Given the description of an element on the screen output the (x, y) to click on. 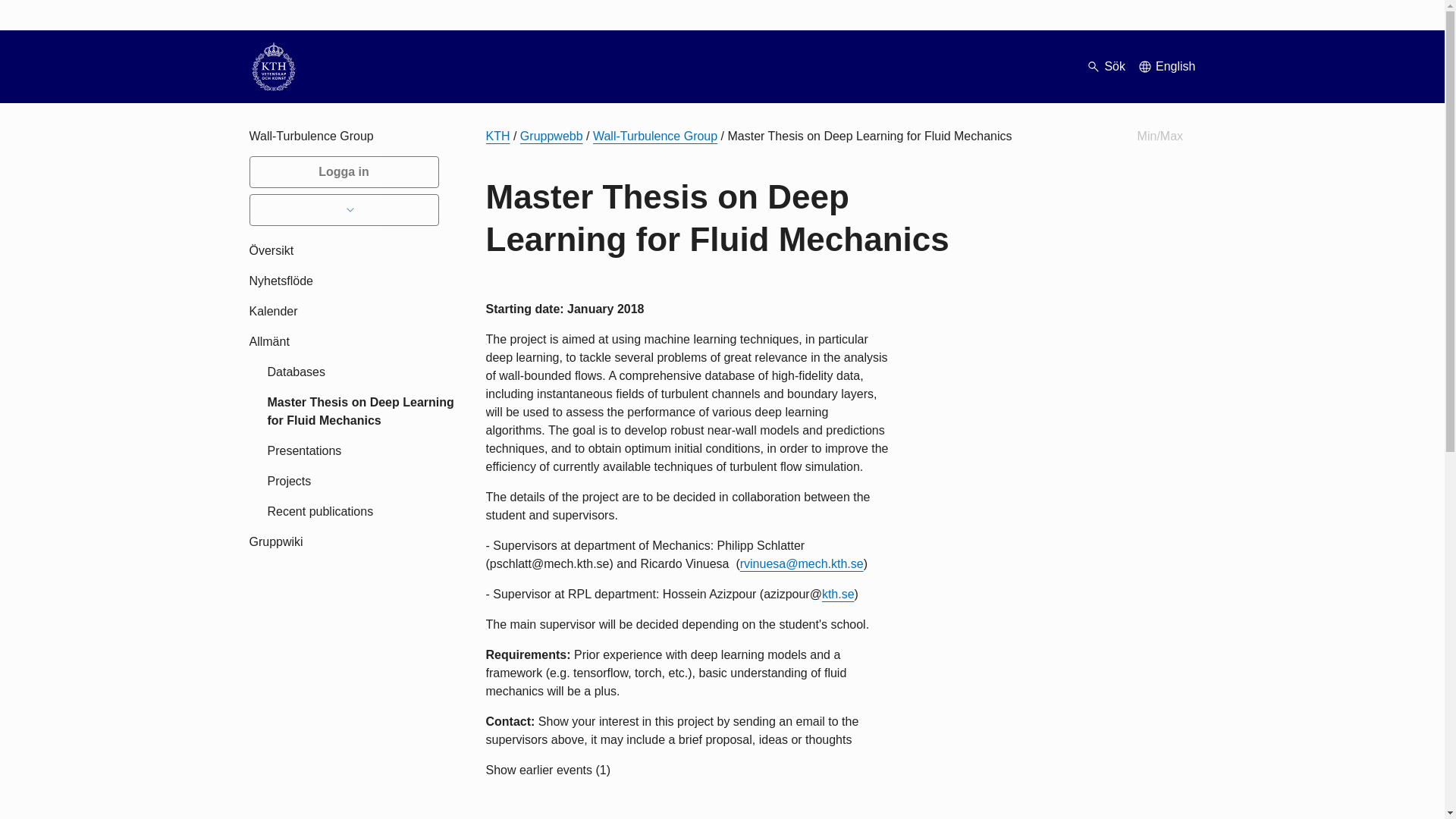
Kalender (360, 311)
Gruppwiki (360, 542)
Databases (360, 372)
kth.se (838, 594)
Master Thesis on Deep Learning for Fluid Mechanics (360, 411)
Projects (360, 481)
Presentations (360, 450)
Recent publications (360, 511)
KTH (496, 135)
Gruppwebb (551, 135)
English (1166, 66)
Wall-Turbulence Group (654, 135)
Logga in (343, 172)
